Given the description of an element on the screen output the (x, y) to click on. 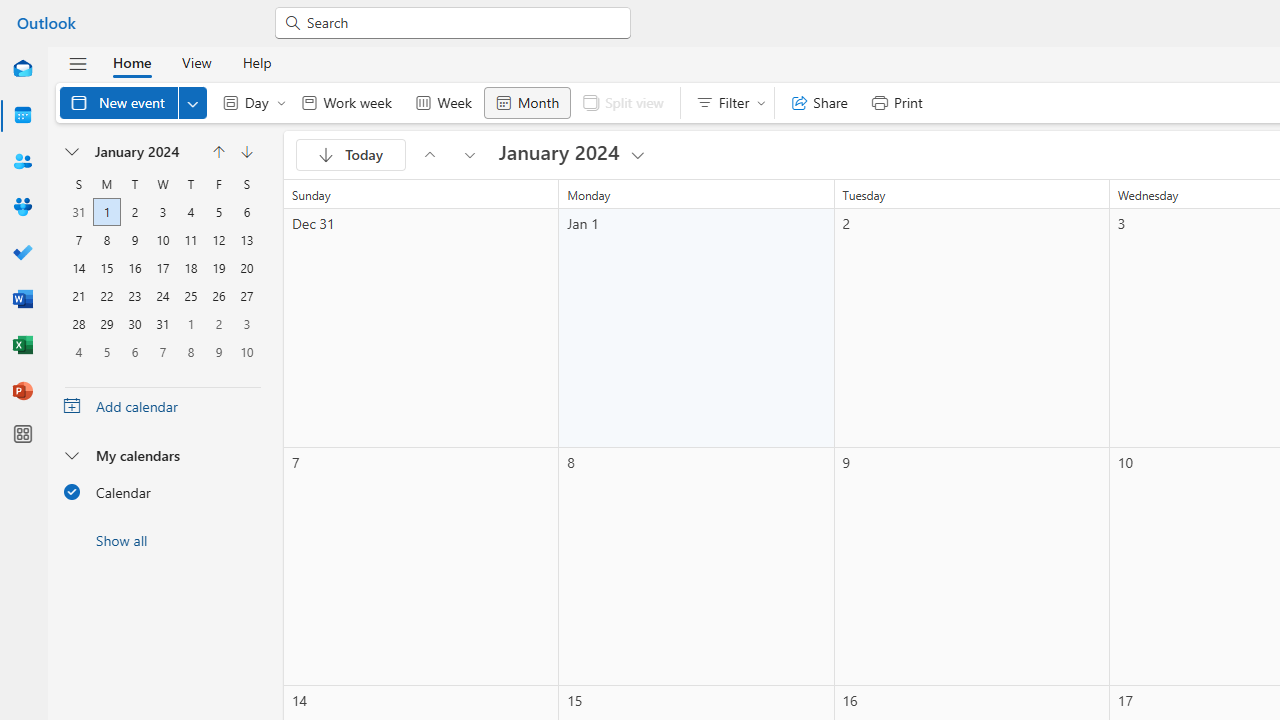
3, February, 2024 (246, 323)
12, January, 2024 (218, 240)
Go to next month February (246, 152)
20, January, 2024 (246, 268)
27, January, 2024 (246, 295)
26, January, 2024 (218, 295)
22, January, 2024 (106, 295)
7, February, 2024 (162, 351)
11, January, 2024 (191, 239)
Add calendar (162, 406)
Calendar (162, 491)
5, February, 2024 (107, 351)
Monday (107, 183)
Class: weekRow-466 (163, 351)
Friday (218, 183)
